Given the description of an element on the screen output the (x, y) to click on. 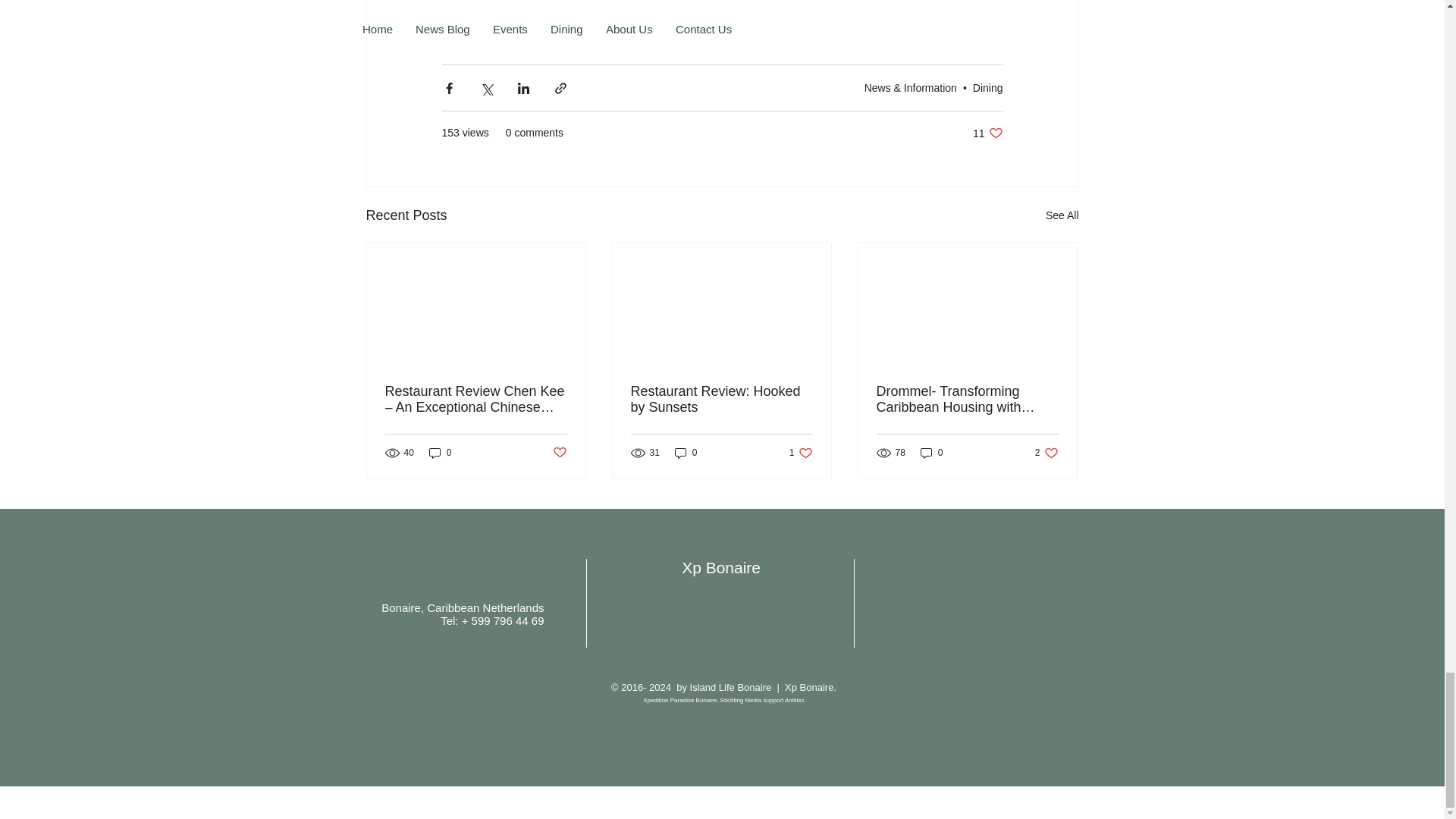
0 (931, 452)
0 (800, 452)
Restaurant Review: Hooked by Sunsets (440, 452)
Post not marked as liked (721, 399)
0 (558, 453)
See All (685, 452)
Dining (987, 133)
